Given the description of an element on the screen output the (x, y) to click on. 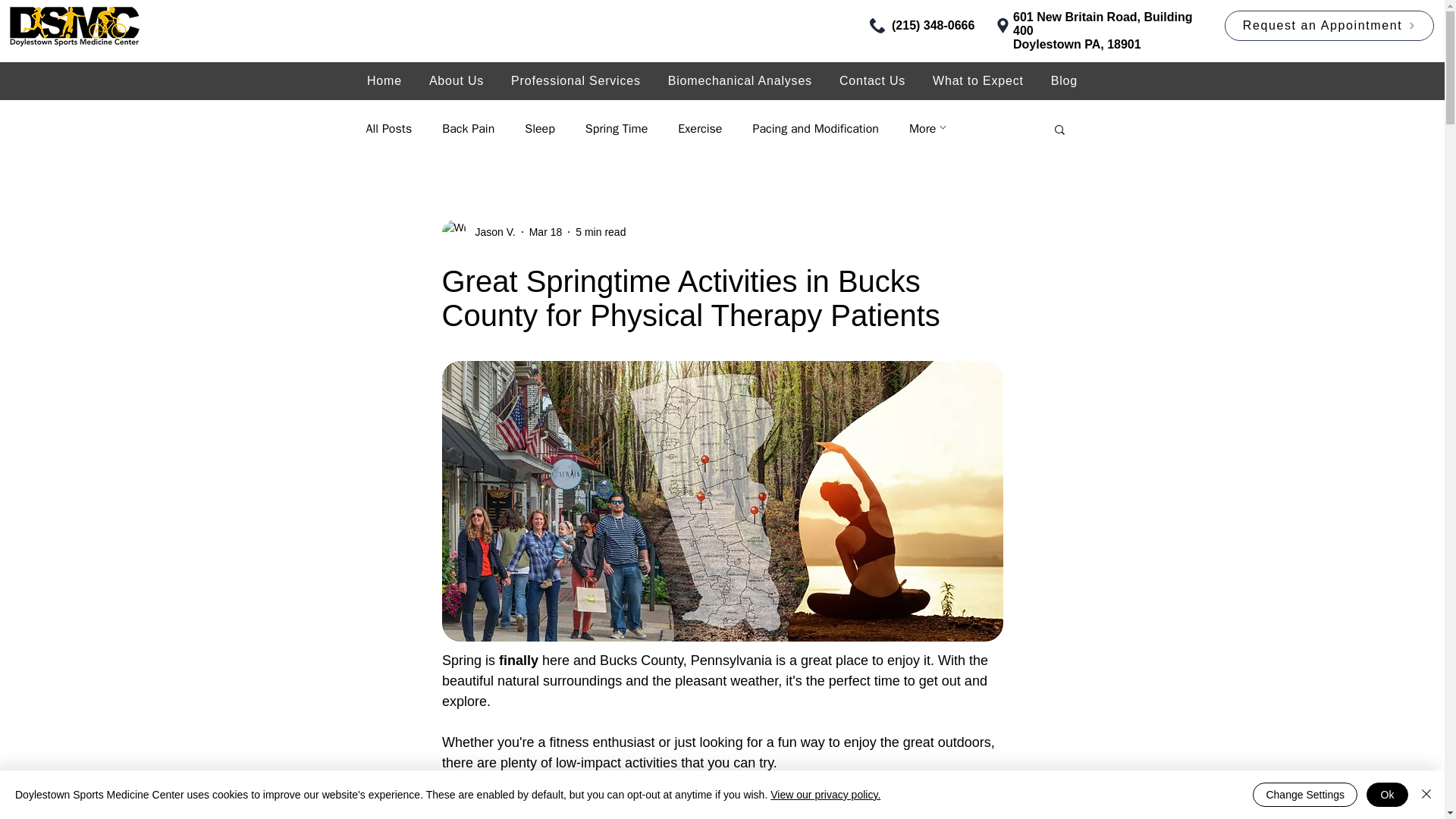
Blog (1063, 80)
Spring Time (616, 129)
Sleep (539, 129)
Mar 18 (545, 232)
5 min read (600, 232)
Home (383, 80)
All Posts (388, 129)
Professional Services (575, 80)
Request an Appointment (1329, 25)
Contact Us (871, 80)
What to Expect (977, 80)
Back Pain (468, 129)
About Us (455, 80)
Biomechanical Analyses (739, 80)
Jason V. (490, 232)
